Given the description of an element on the screen output the (x, y) to click on. 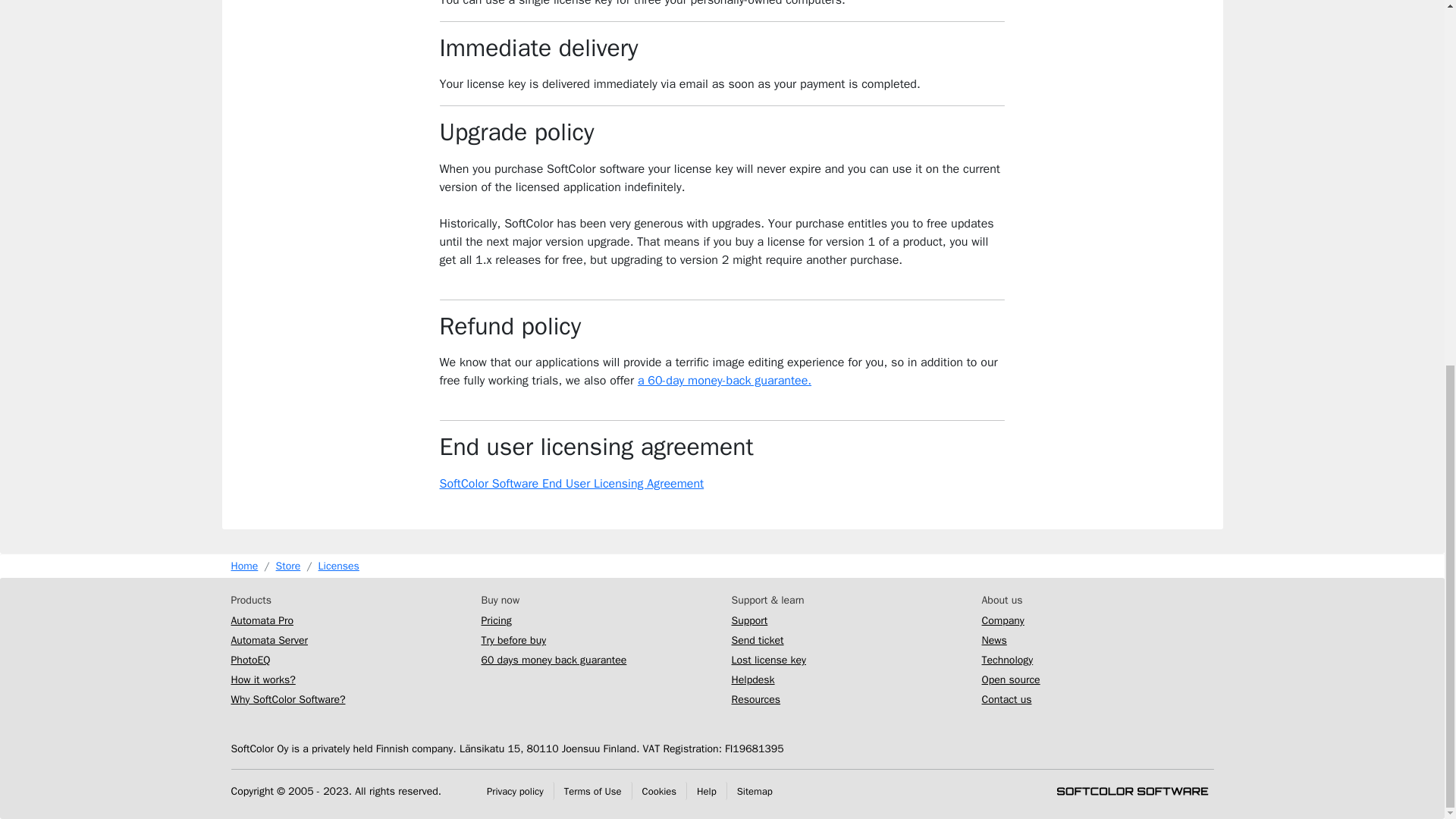
60 days money back guarantee (553, 659)
PhotoEQ (249, 659)
Try before buy (513, 640)
SoftColor Software End User Licensing Agreement (571, 483)
Why SoftColor Software? (287, 698)
Helpdesk (752, 679)
Automata Server (268, 640)
Automata Pro (261, 620)
Lost license key (767, 659)
a 60-day money-back guarantee. (723, 380)
Help (706, 790)
Store (288, 565)
Technology (1006, 659)
Support (748, 620)
Contact us (1005, 698)
